Given the description of an element on the screen output the (x, y) to click on. 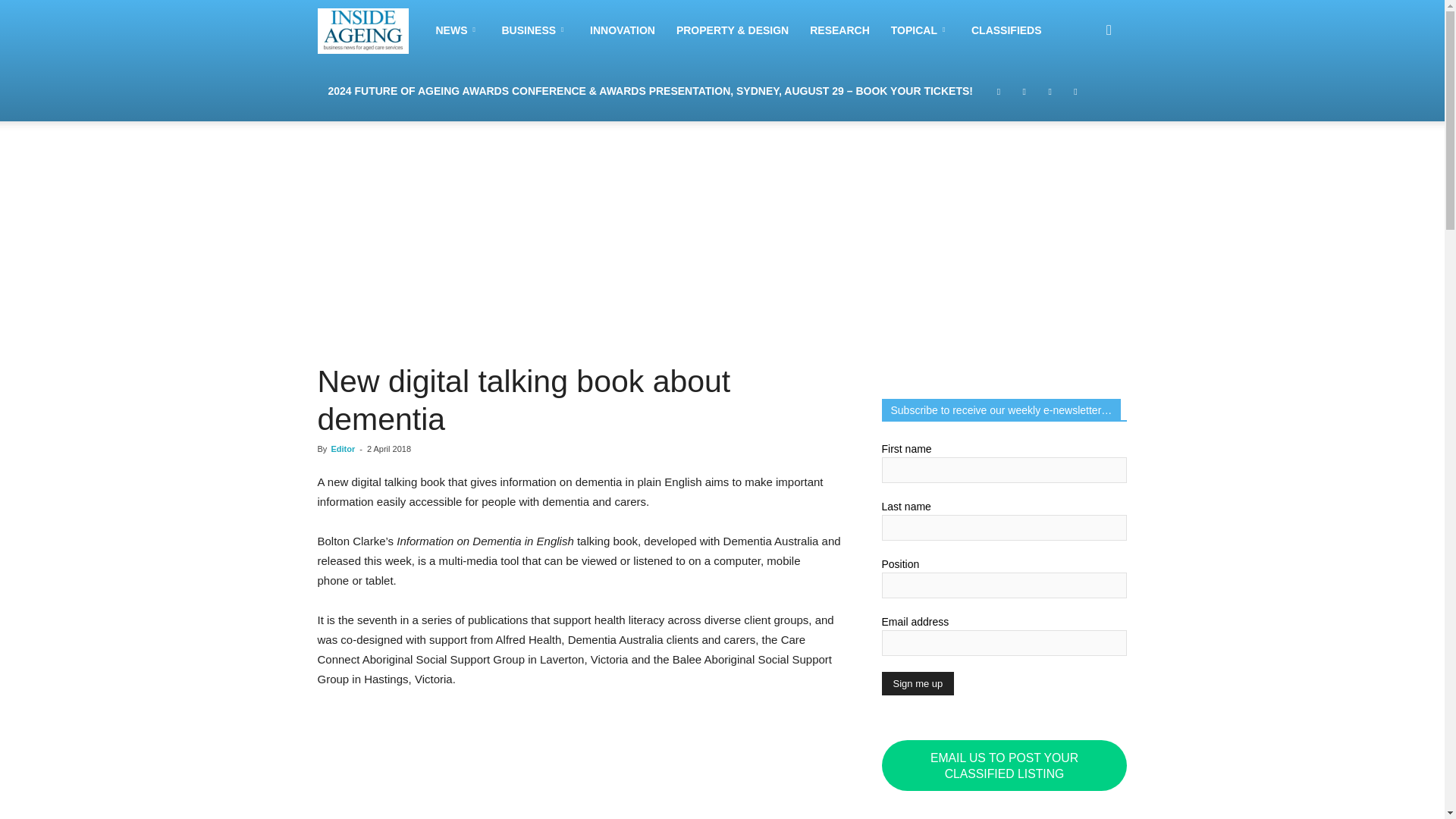
business news for aged care services (362, 30)
3rd party ad content (430, 764)
Inside Ageing (371, 30)
Sign me up (916, 683)
NEWS (457, 30)
